Given the description of an element on the screen output the (x, y) to click on. 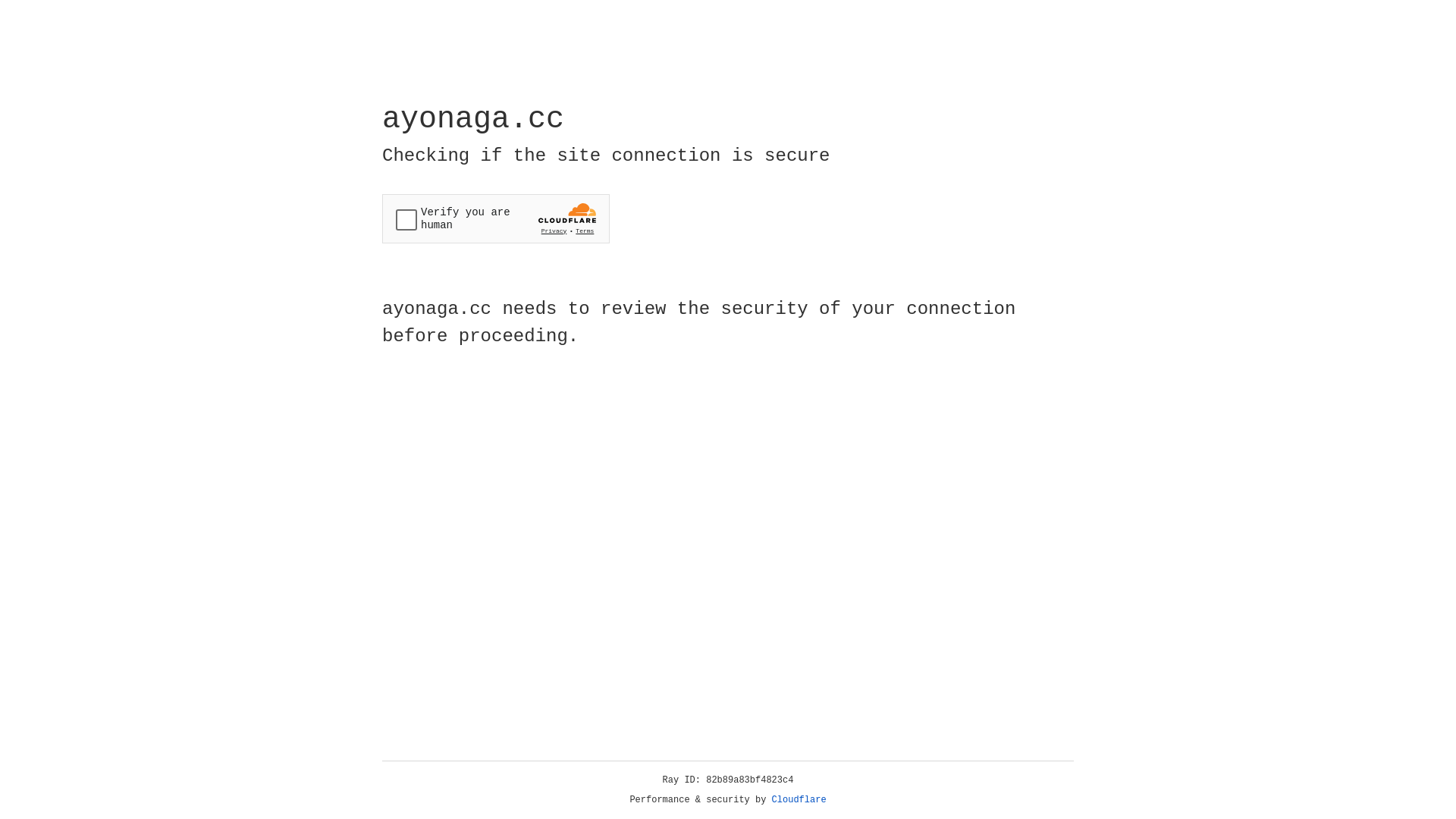
Widget containing a Cloudflare security challenge Element type: hover (495, 218)
Cloudflare Element type: text (798, 799)
